Given the description of an element on the screen output the (x, y) to click on. 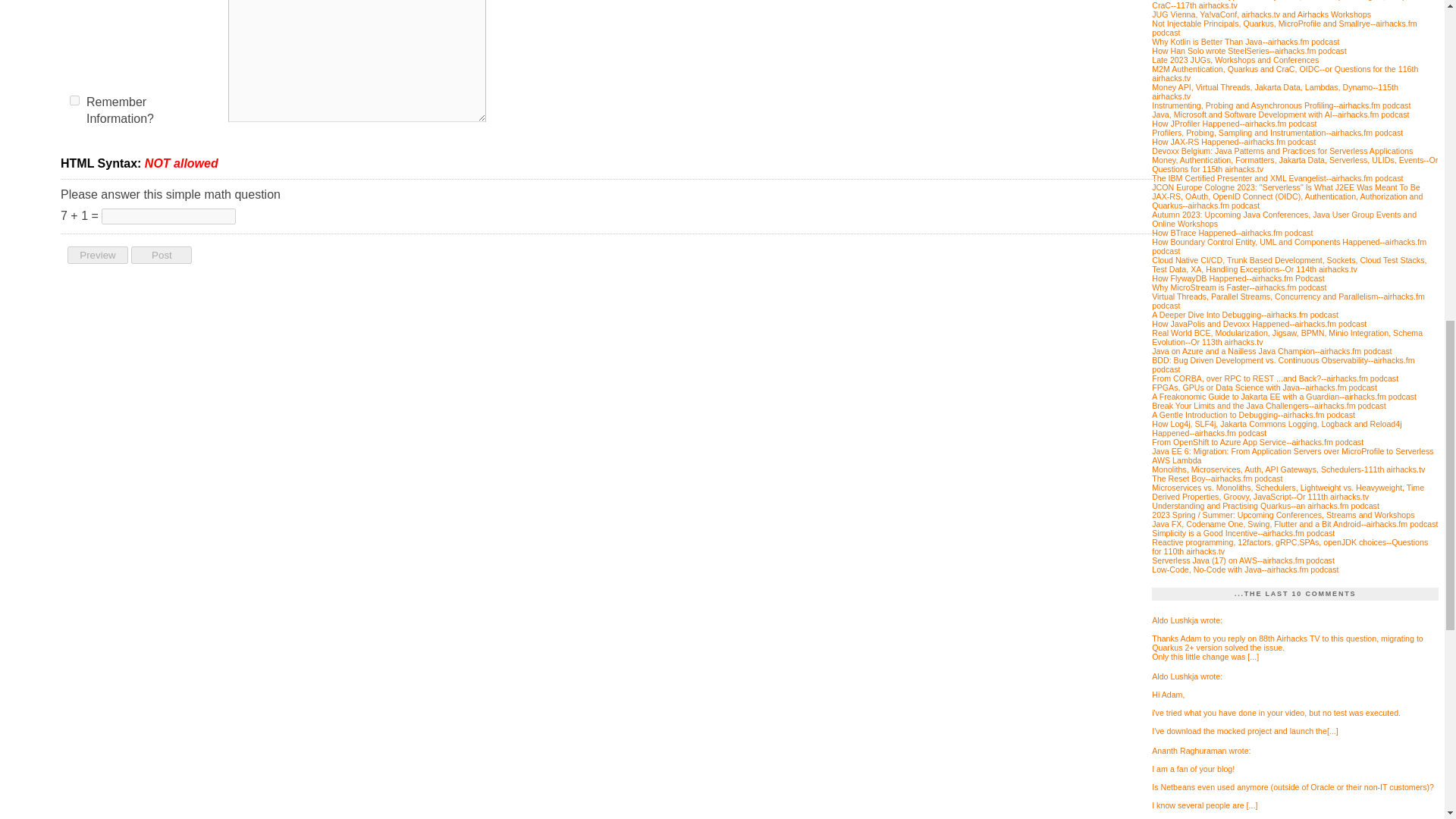
on (74, 100)
